Given the description of an element on the screen output the (x, y) to click on. 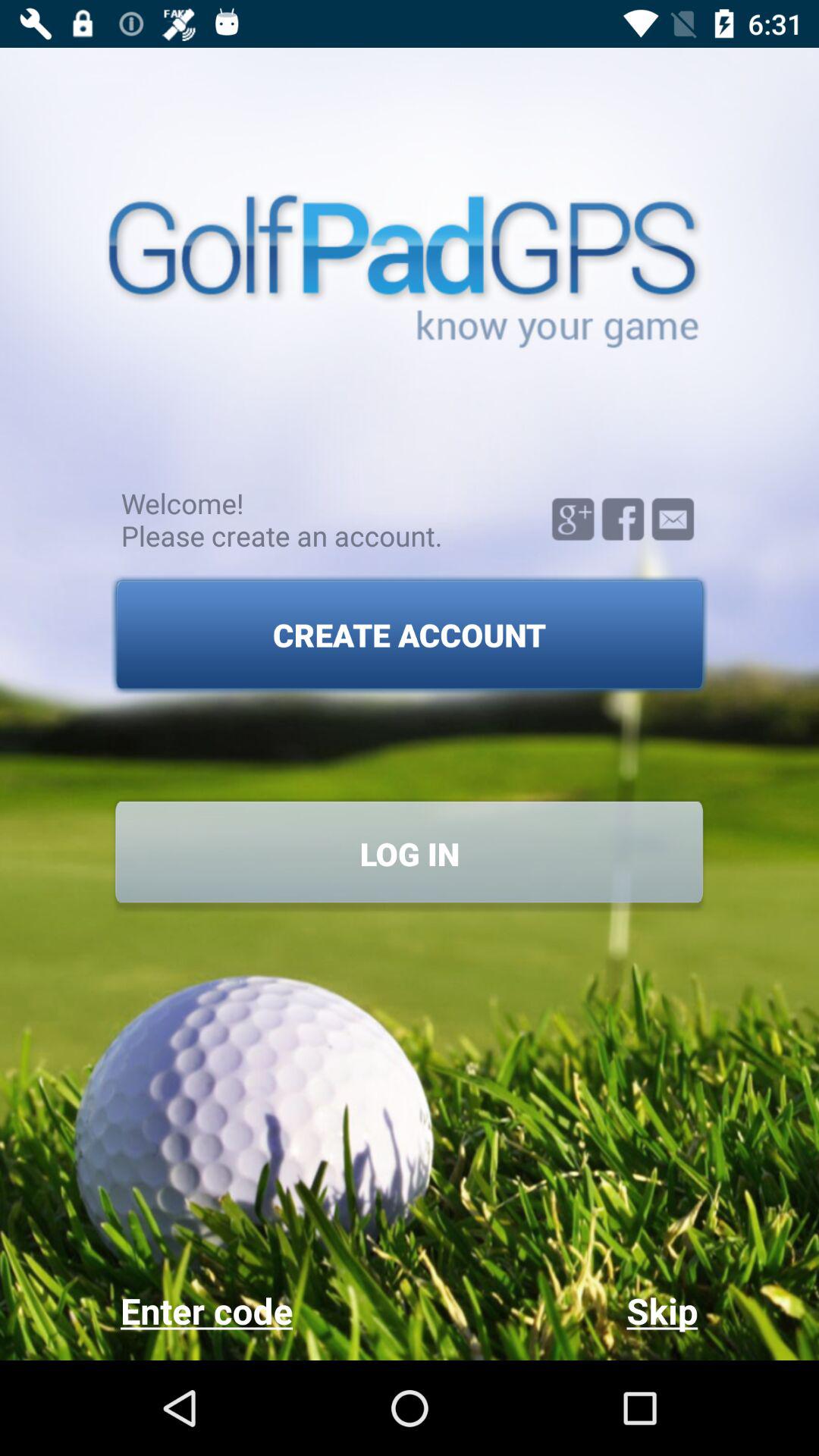
launch the skip icon (552, 1310)
